Given the description of an element on the screen output the (x, y) to click on. 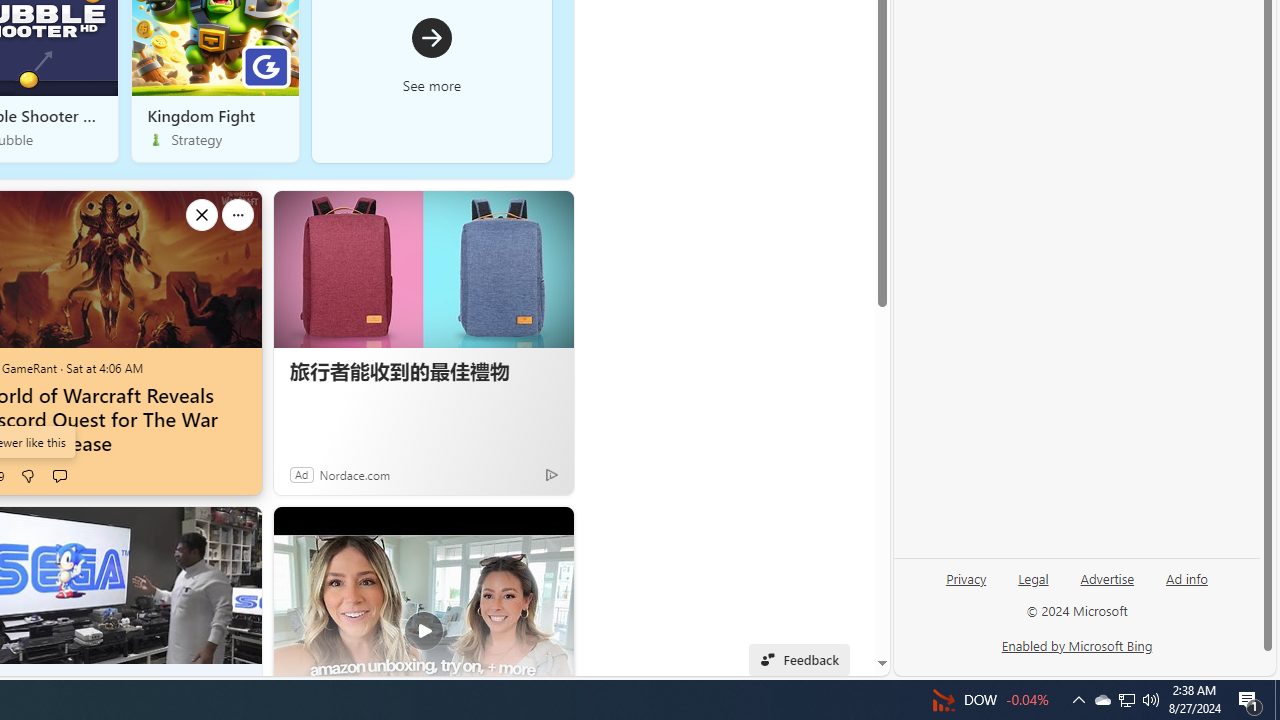
Hide this story (543, 536)
Nordace.com (354, 474)
